Given the description of an element on the screen output the (x, y) to click on. 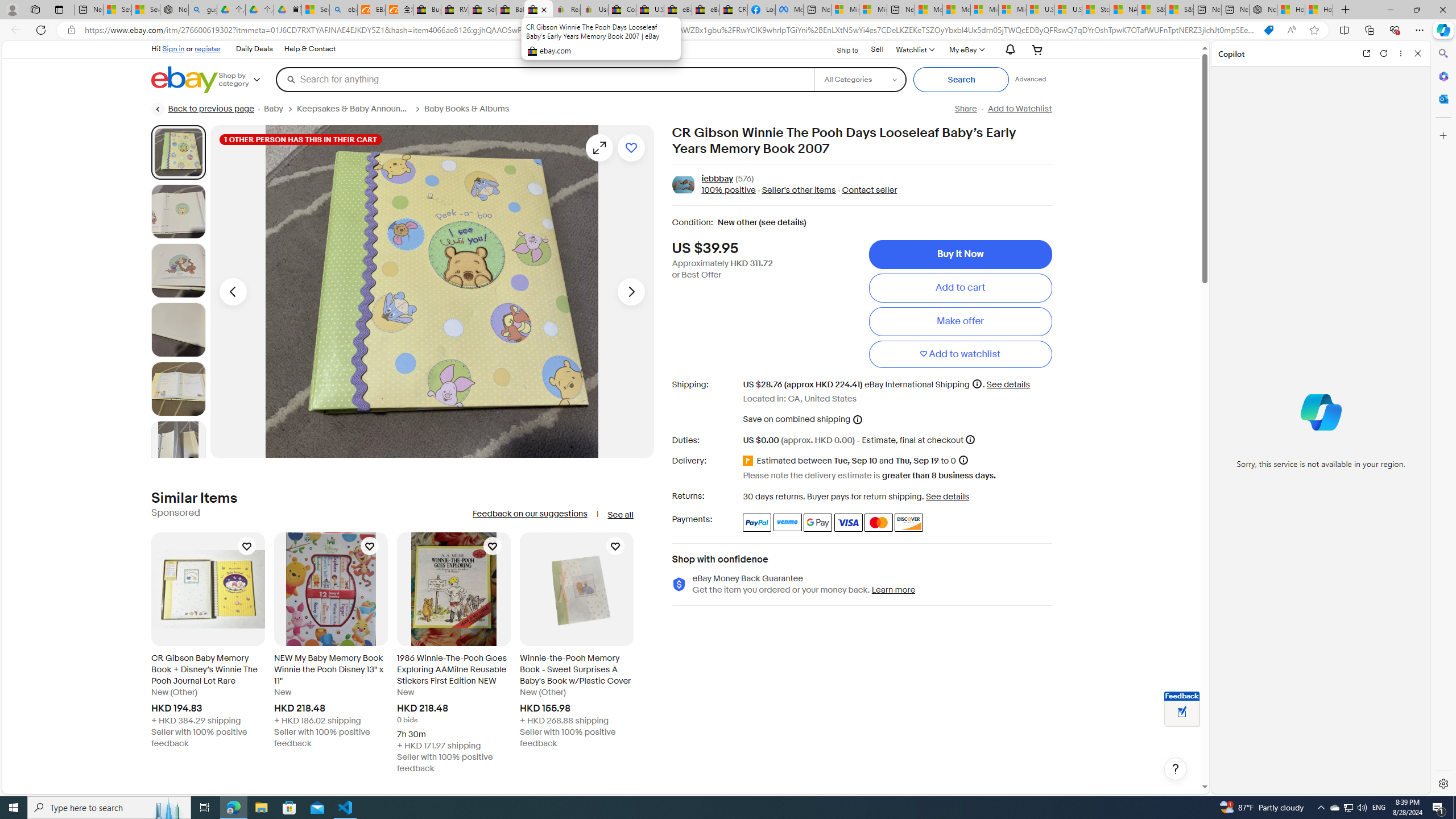
Baby (280, 108)
Baby Books & Albums (470, 108)
Google Pay (817, 521)
